Given the description of an element on the screen output the (x, y) to click on. 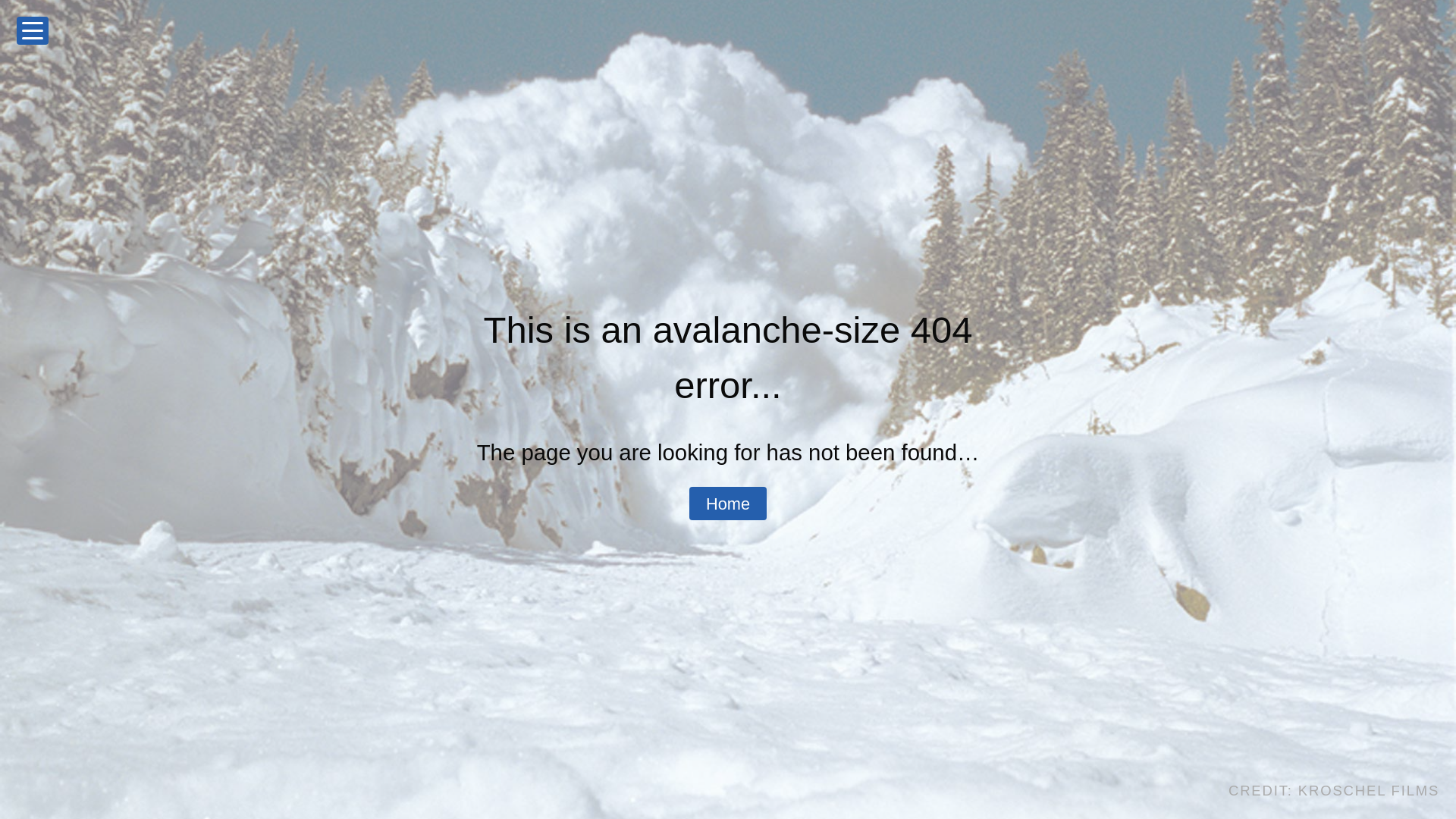
Home Element type: text (727, 503)
